Given the description of an element on the screen output the (x, y) to click on. 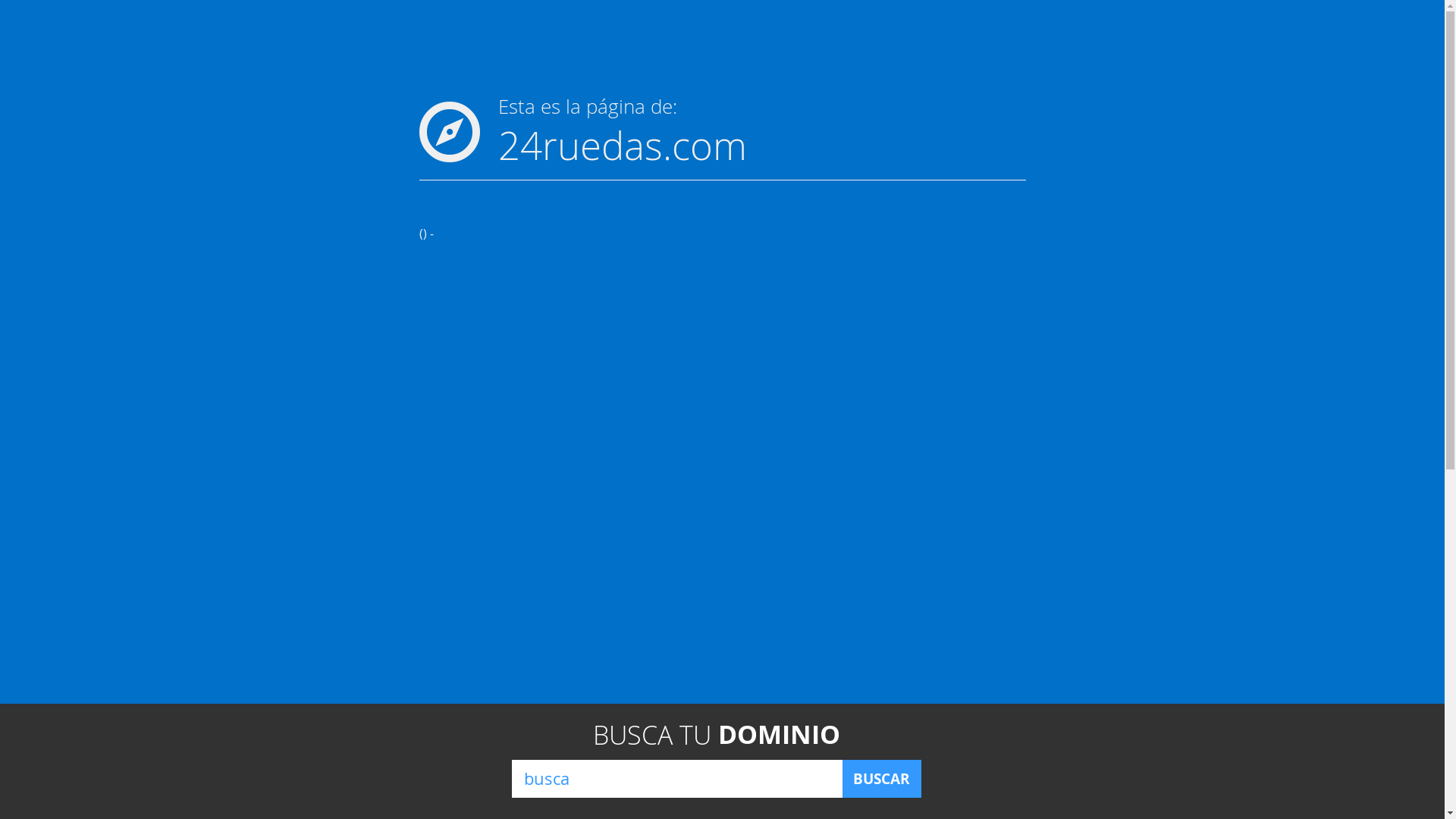
BUSCAR Element type: text (880, 778)
